Given the description of an element on the screen output the (x, y) to click on. 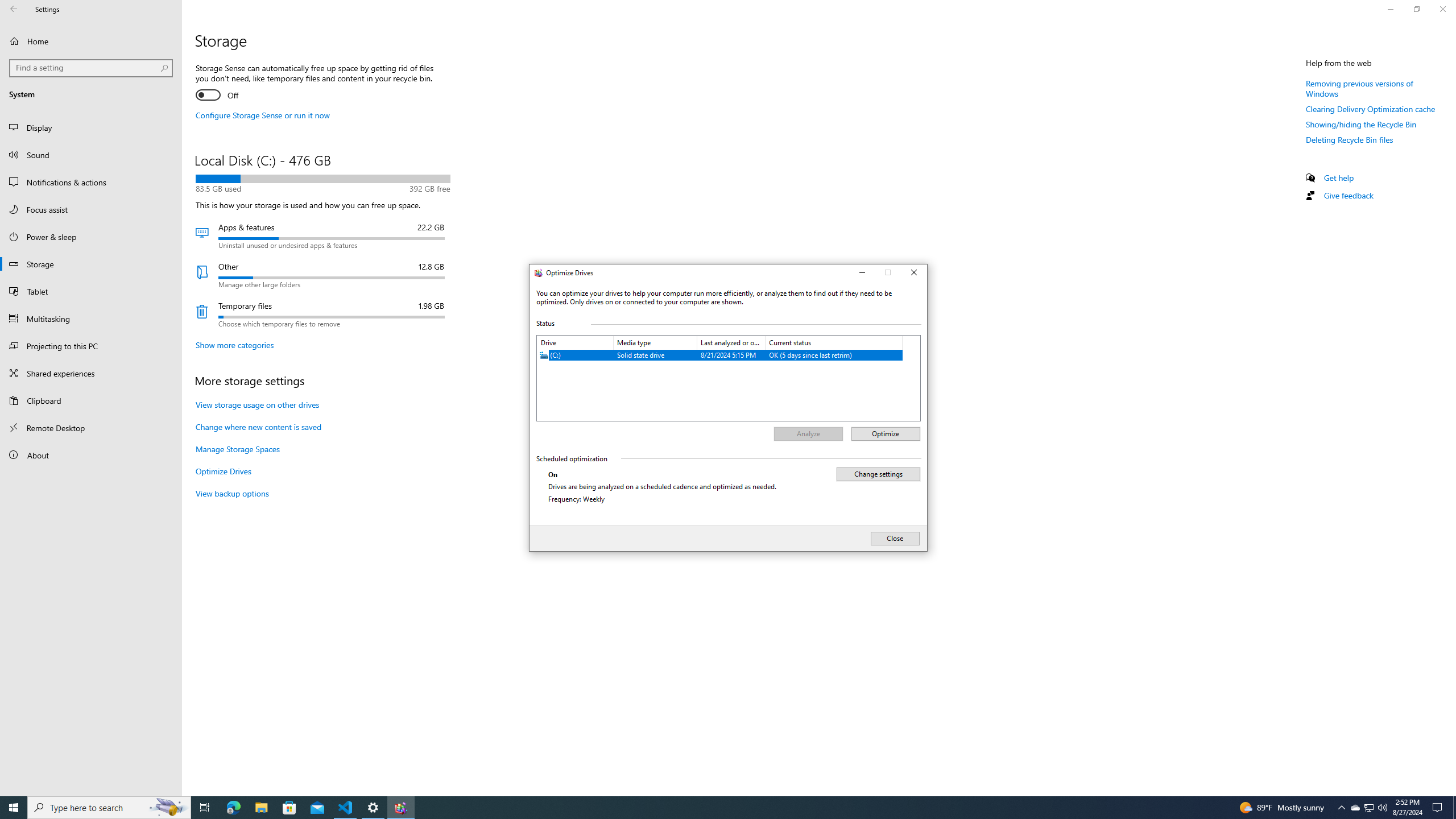
Q2790: 100% (1382, 807)
System (535, 274)
Analyze (808, 433)
System (535, 274)
Start (13, 807)
Settings - 1 running window (373, 807)
Microsoft Store (289, 807)
Optimize (885, 433)
Notification Chevron (1341, 807)
Show desktop (1454, 807)
File Explorer (261, 807)
Maximize (888, 272)
Task View (204, 807)
